Given the description of an element on the screen output the (x, y) to click on. 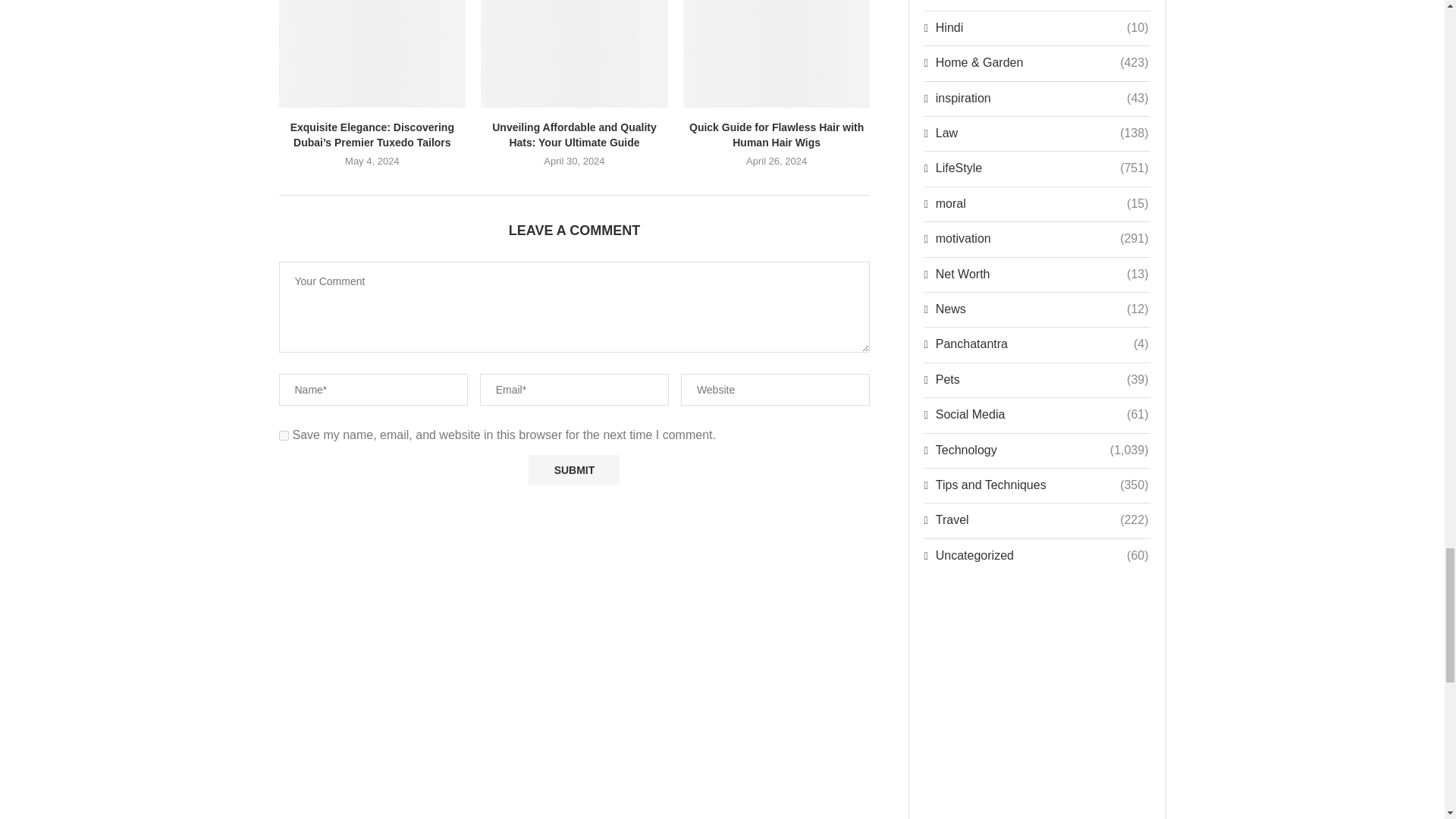
yes (283, 435)
Submit (574, 470)
